Given the description of an element on the screen output the (x, y) to click on. 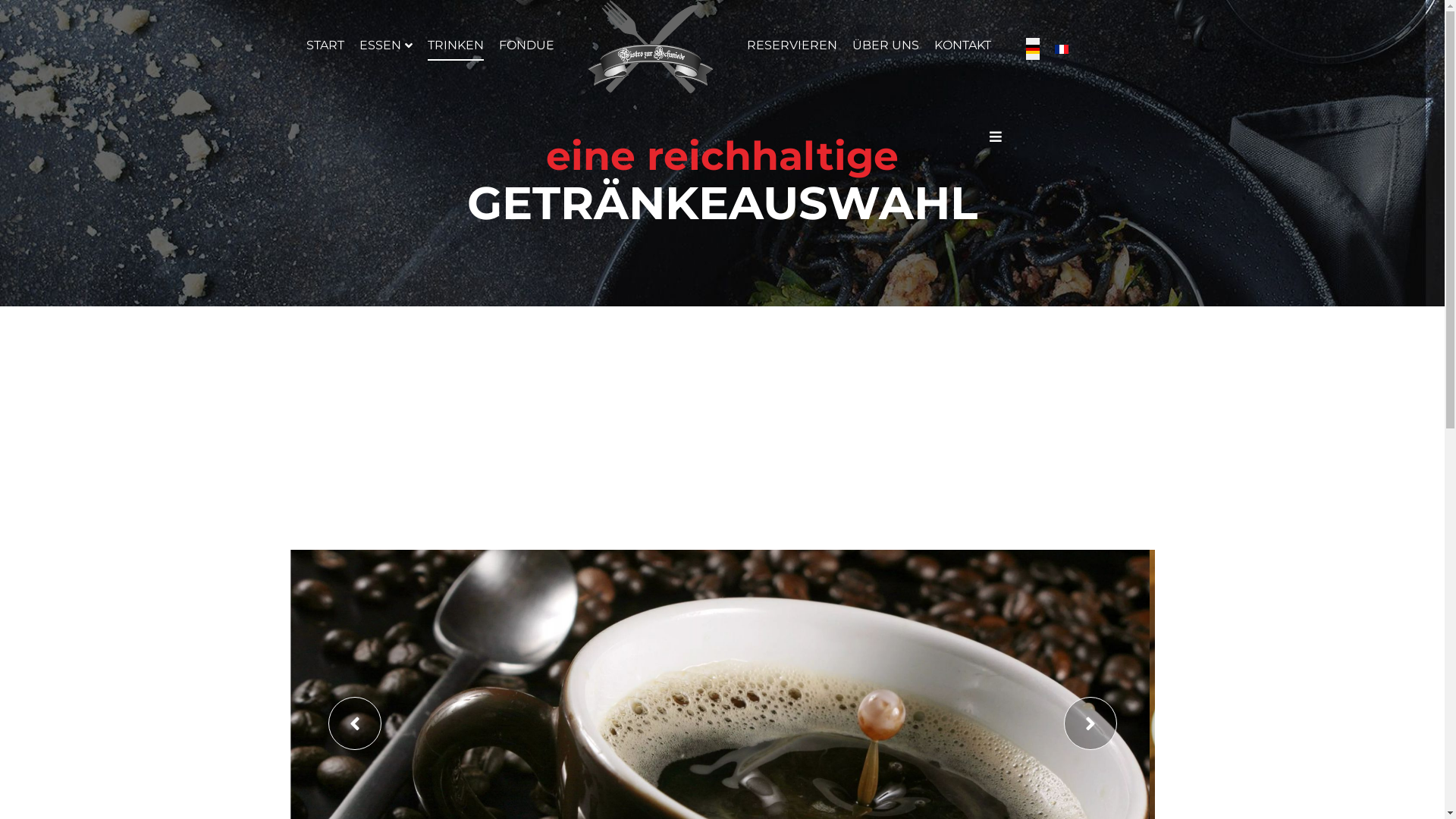
START Element type: text (325, 45)
FONDUE Element type: text (526, 45)
RESERVIEREN Element type: text (791, 45)
ESSEN Element type: text (385, 45)
TRINKEN Element type: text (455, 45)
Deutsch (Deutschland) Element type: hover (1031, 48)
KONTAKT Element type: text (962, 45)
